Given the description of an element on the screen output the (x, y) to click on. 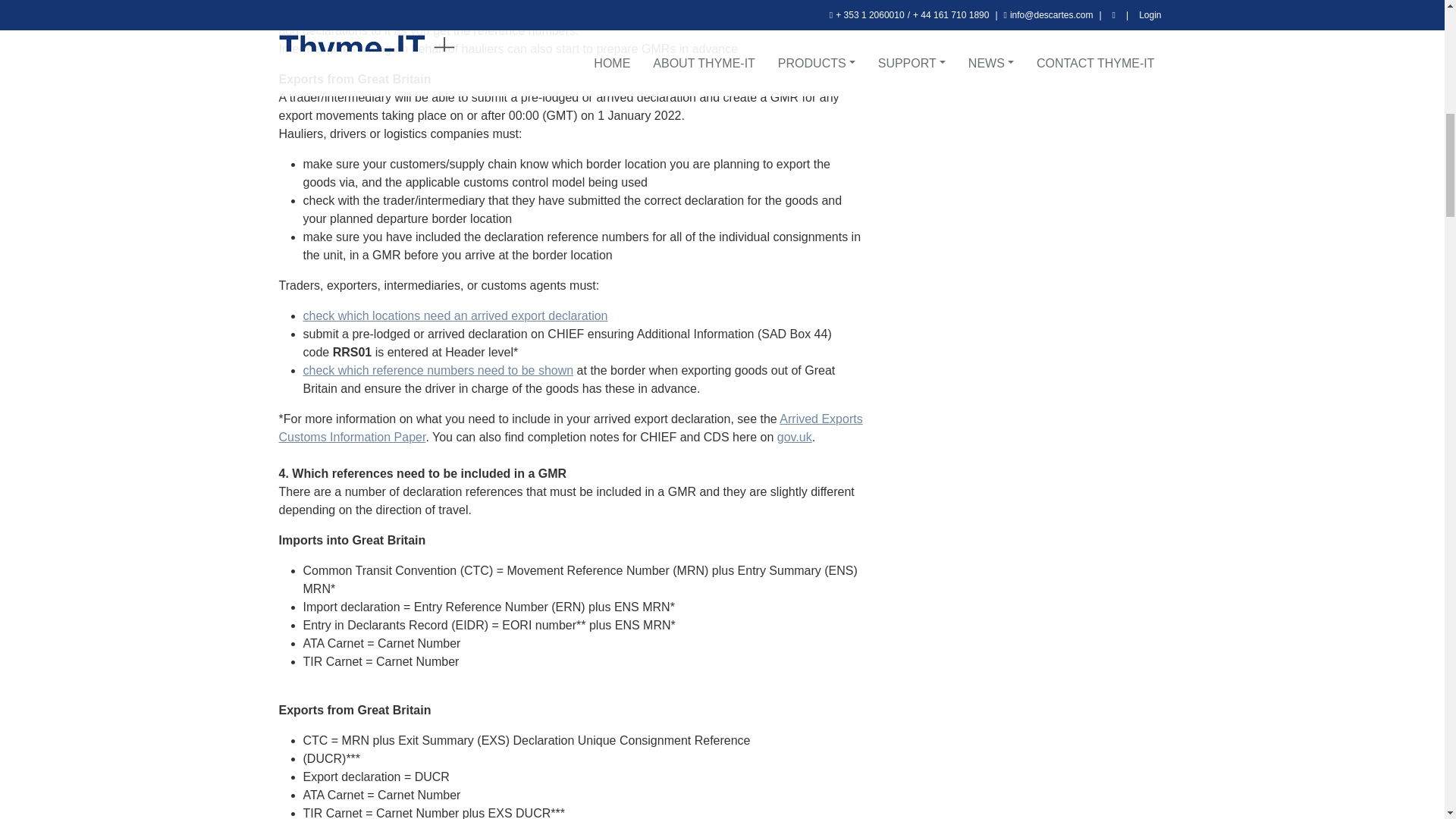
Arrived Exports Customs Information Paper (571, 427)
check which reference numbers need to be shown (437, 369)
check which locations need an arrived export declaration (455, 315)
gov.uk (794, 436)
